Given the description of an element on the screen output the (x, y) to click on. 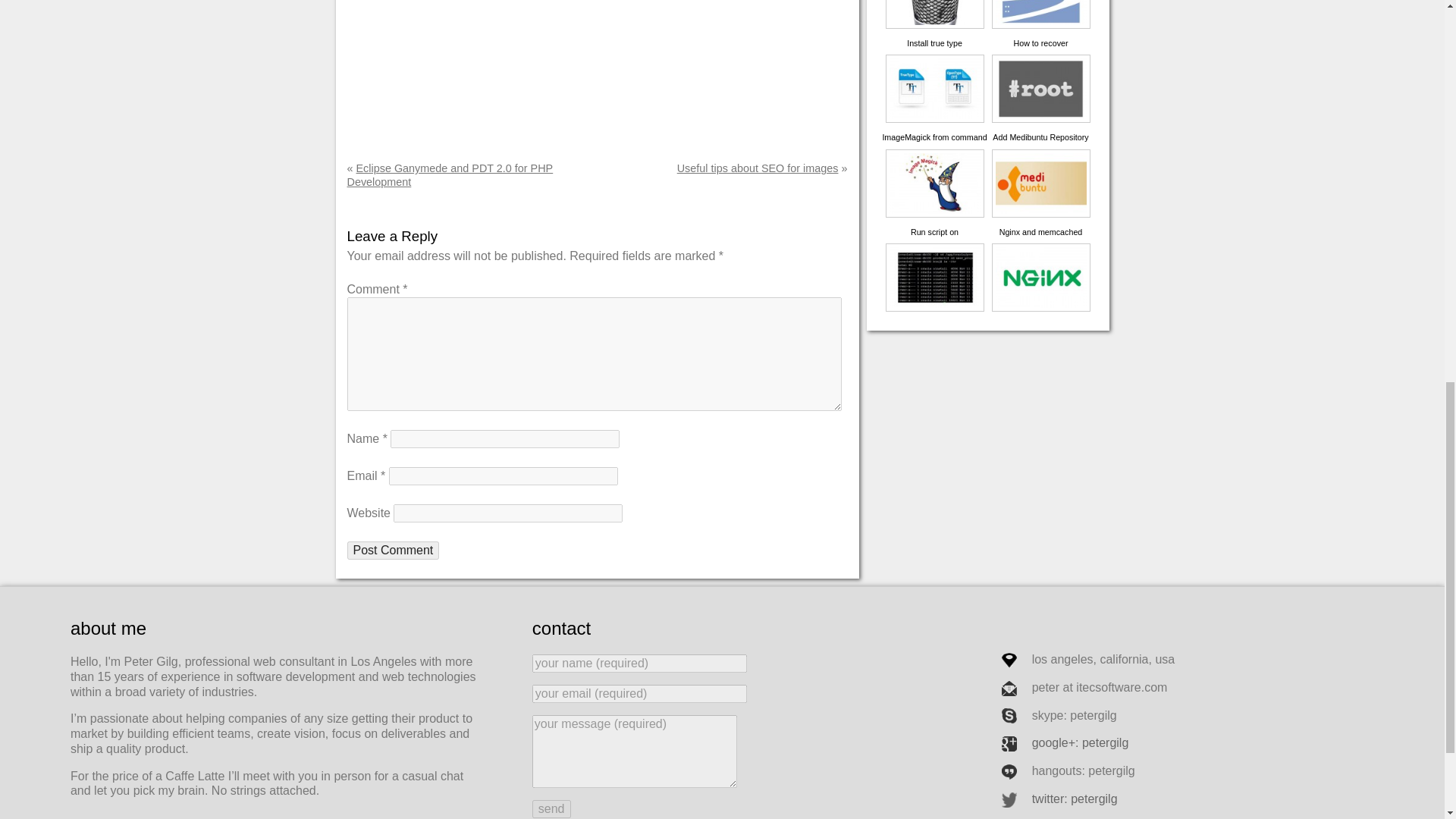
Run script on (933, 254)
follow me on Google Plus (1061, 742)
ImageMagick from command (933, 160)
Install true type (933, 66)
How to recover (1040, 66)
Eclipse Ganymede and PDT 2.0 for PHP Development (450, 175)
Add Medibuntu Repository (1040, 160)
follow me on twitter (1056, 798)
Nginx and memcached (1040, 254)
send (551, 809)
